Given the description of an element on the screen output the (x, y) to click on. 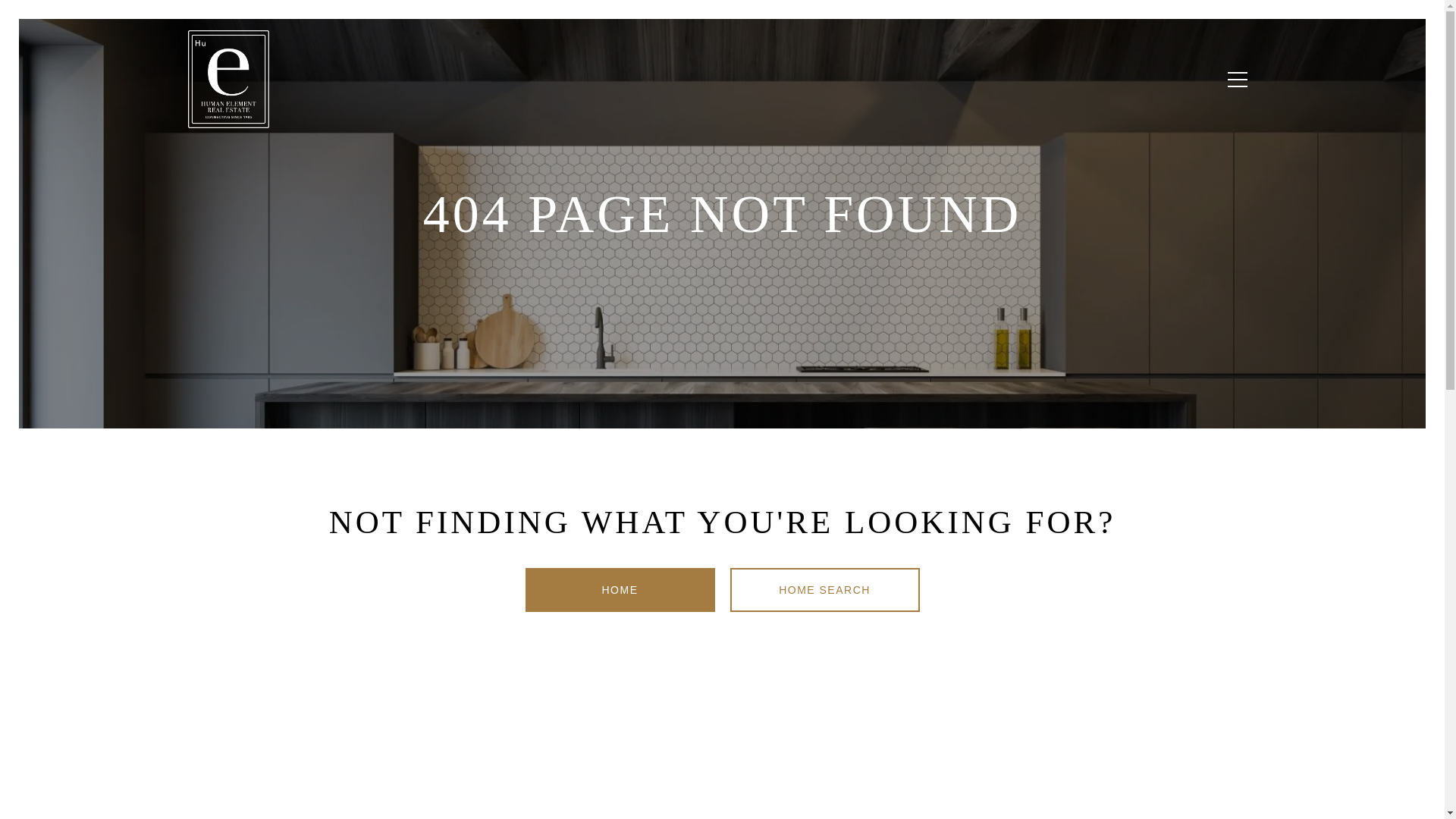
HOME SEARCH (823, 589)
HOME (619, 589)
